Given the description of an element on the screen output the (x, y) to click on. 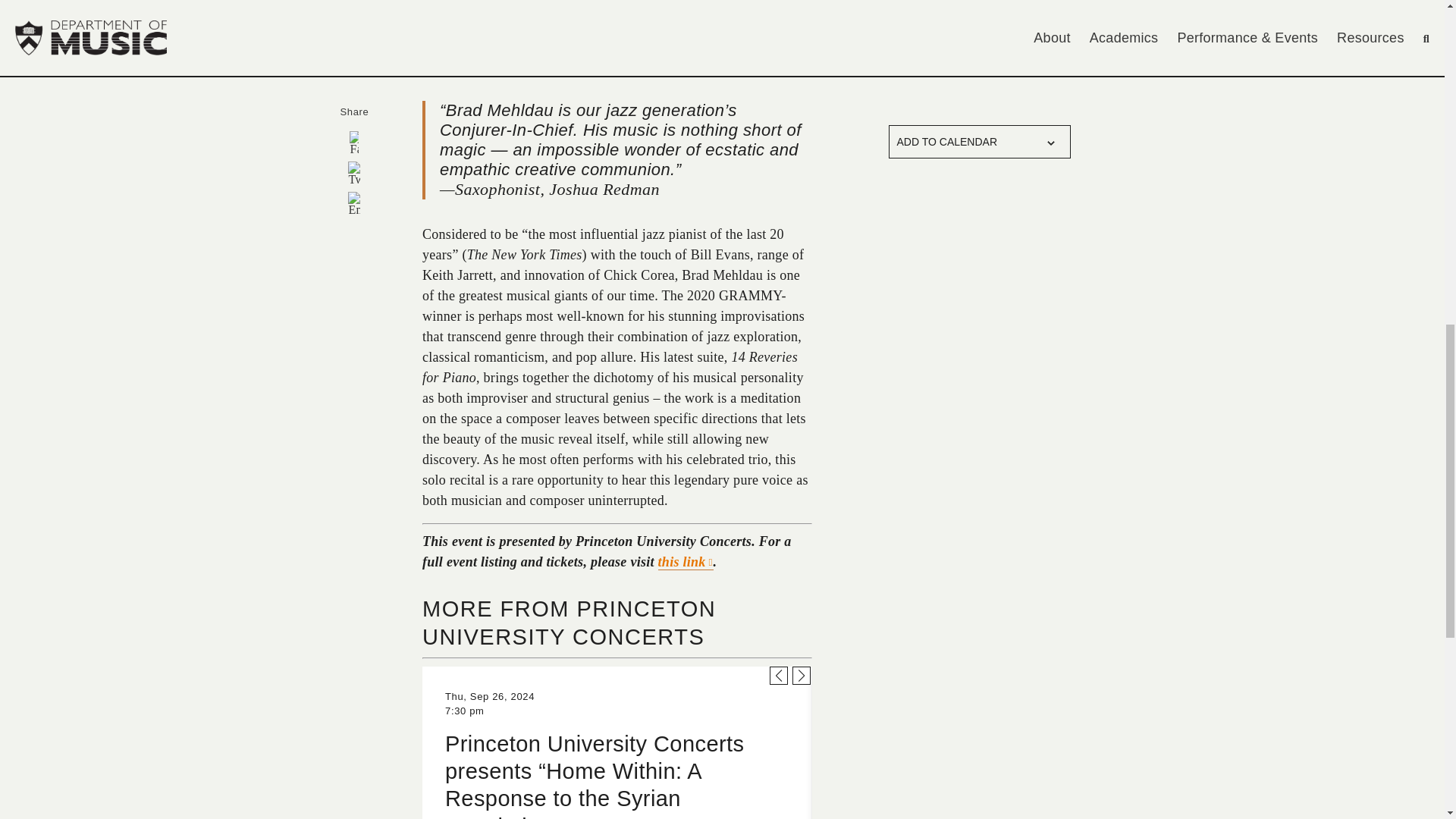
Twitter (353, 173)
Facebook (353, 142)
Email (353, 203)
